Given the description of an element on the screen output the (x, y) to click on. 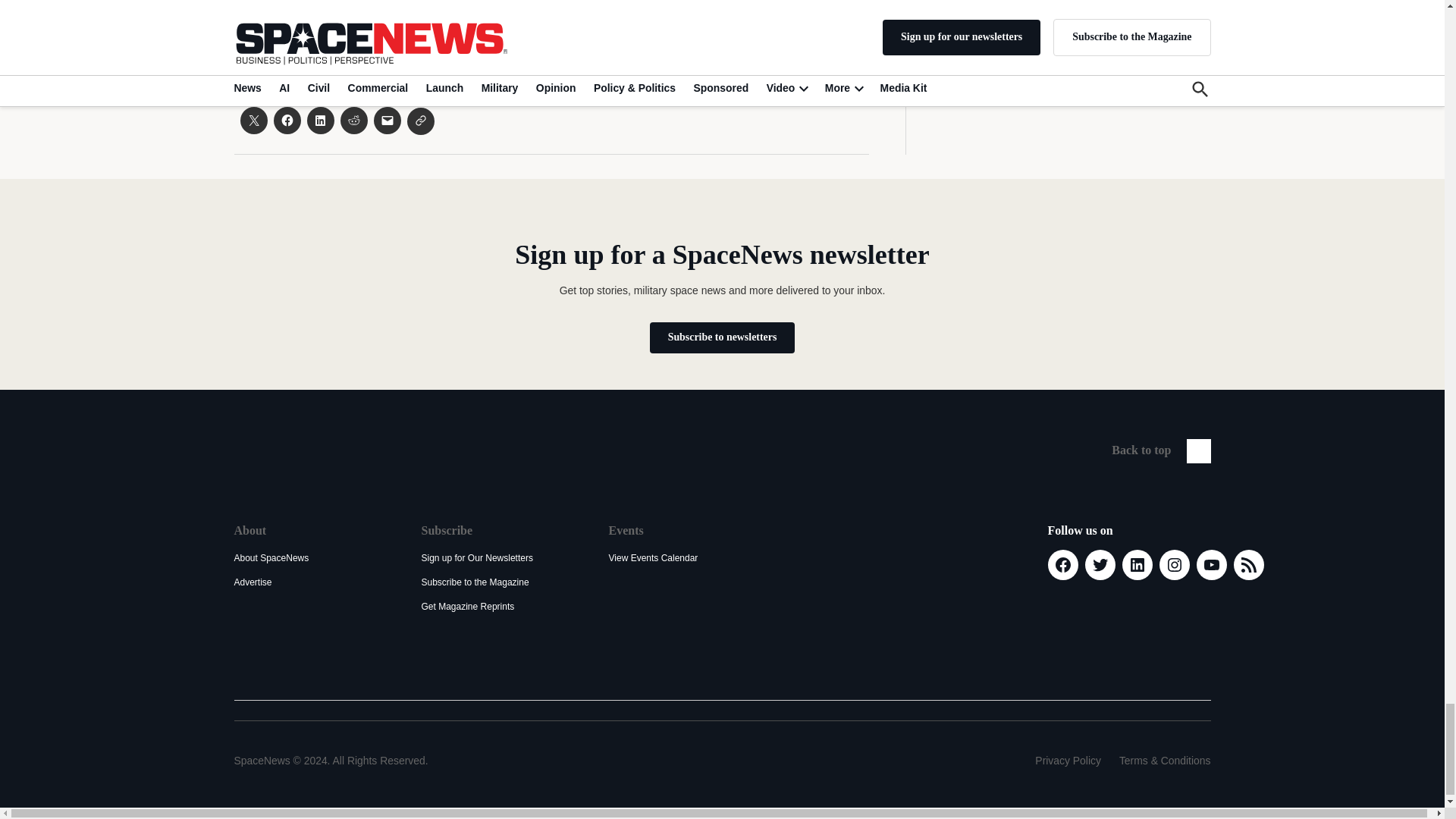
Click to share on X (253, 120)
Click to share on Facebook (286, 120)
